Given the description of an element on the screen output the (x, y) to click on. 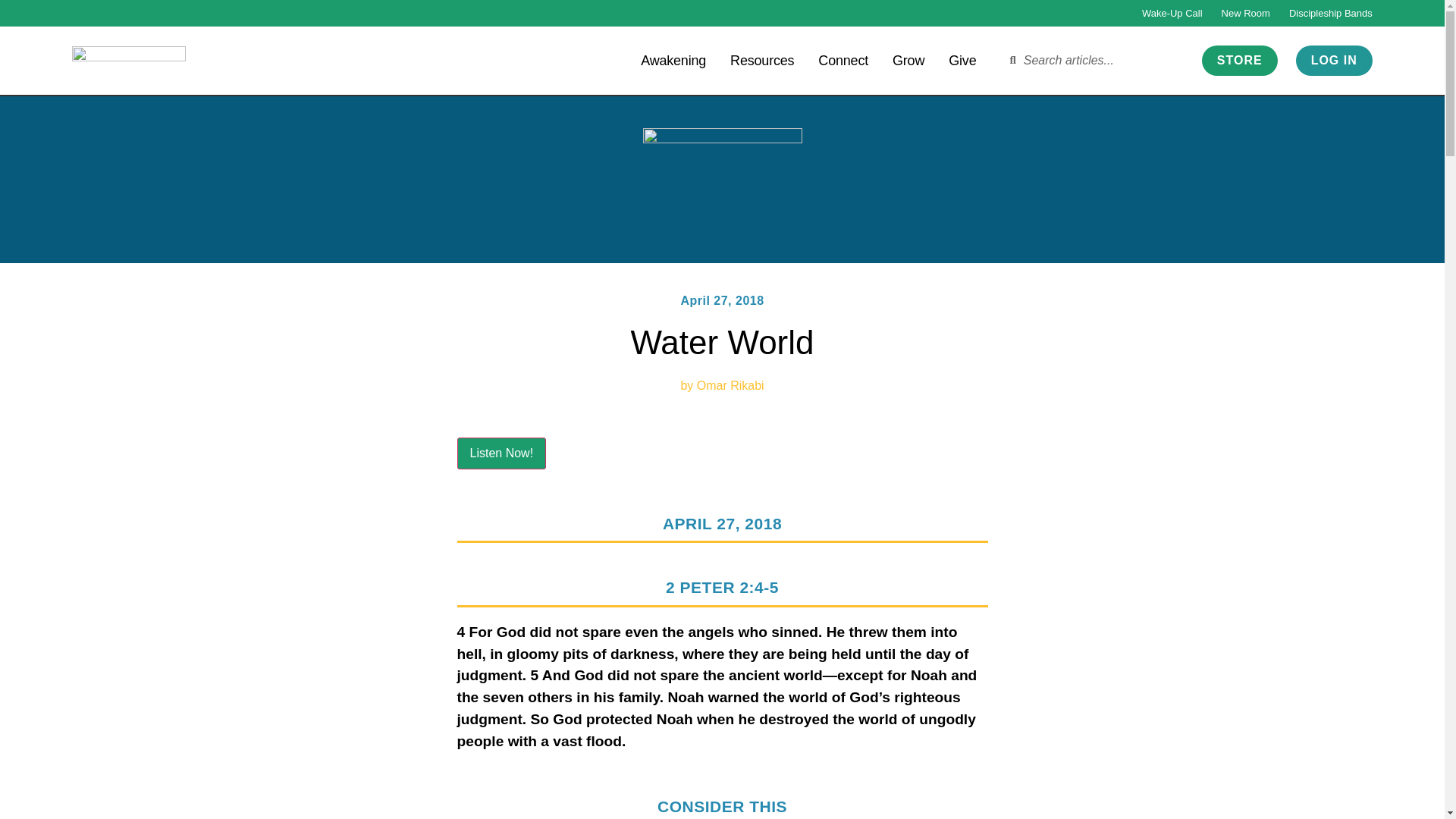
Discipleship Bands (1330, 13)
Wake-Up Call (1171, 13)
Resources (761, 59)
Connect (842, 59)
Awakening (673, 59)
Grow (908, 59)
New Room (1245, 13)
